Given the description of an element on the screen output the (x, y) to click on. 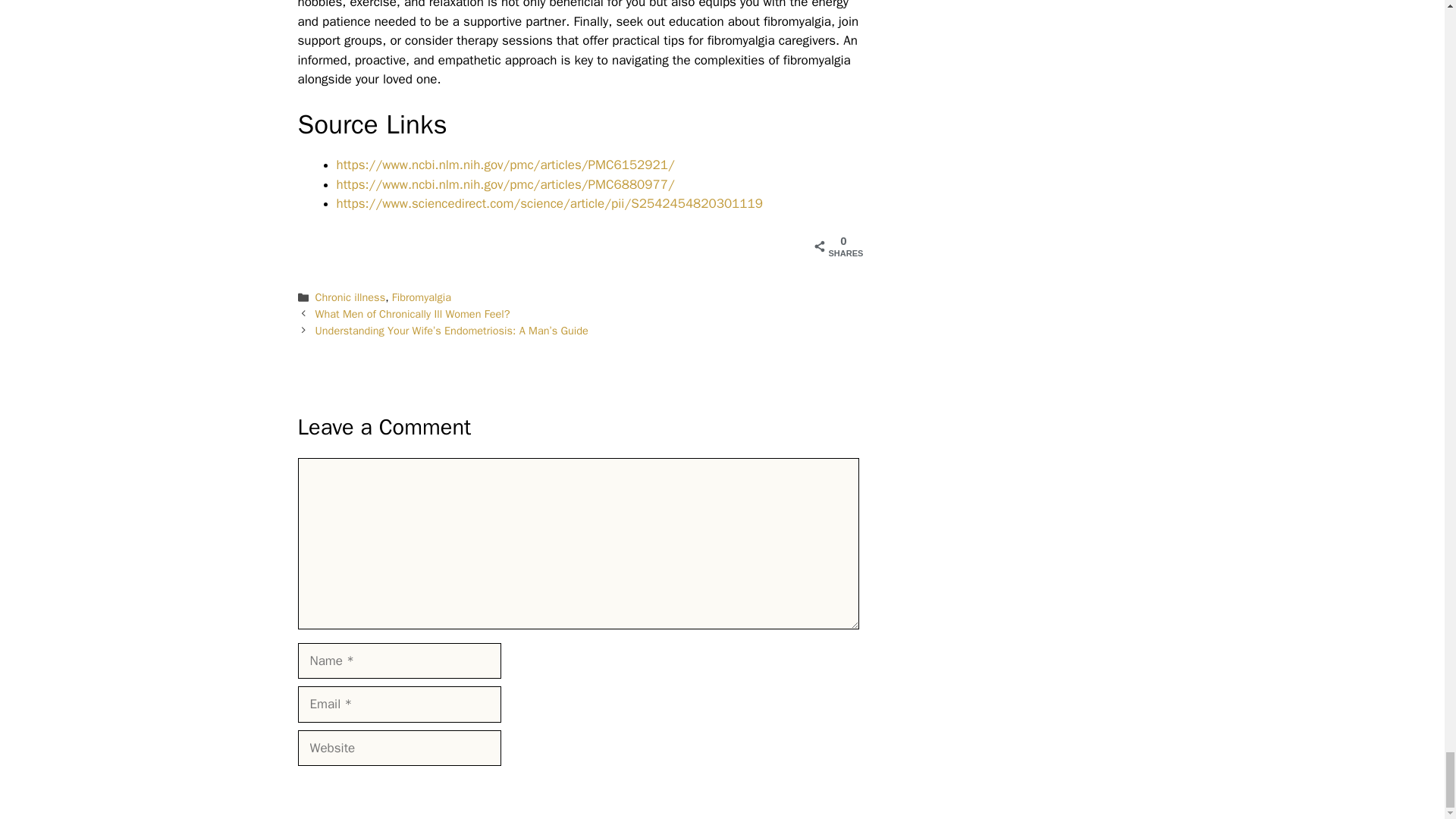
Fibromyalgia (421, 296)
Chronic illness (350, 296)
What Men of Chronically Ill Women Feel? (413, 314)
